Given the description of an element on the screen output the (x, y) to click on. 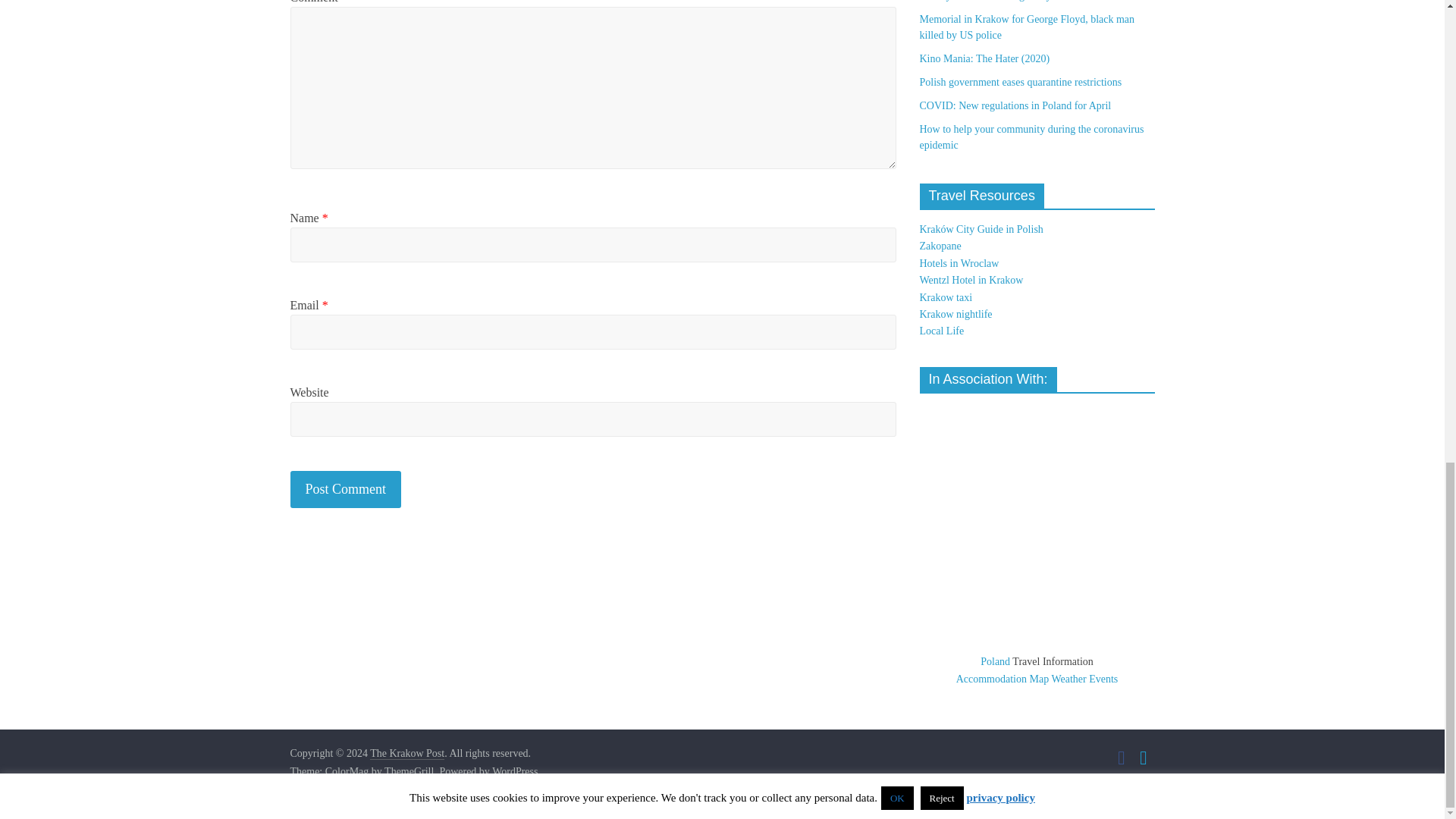
Post Comment (345, 488)
ColorMag (346, 771)
The Krakow Post (406, 753)
WordPress (514, 771)
